Given the description of an element on the screen output the (x, y) to click on. 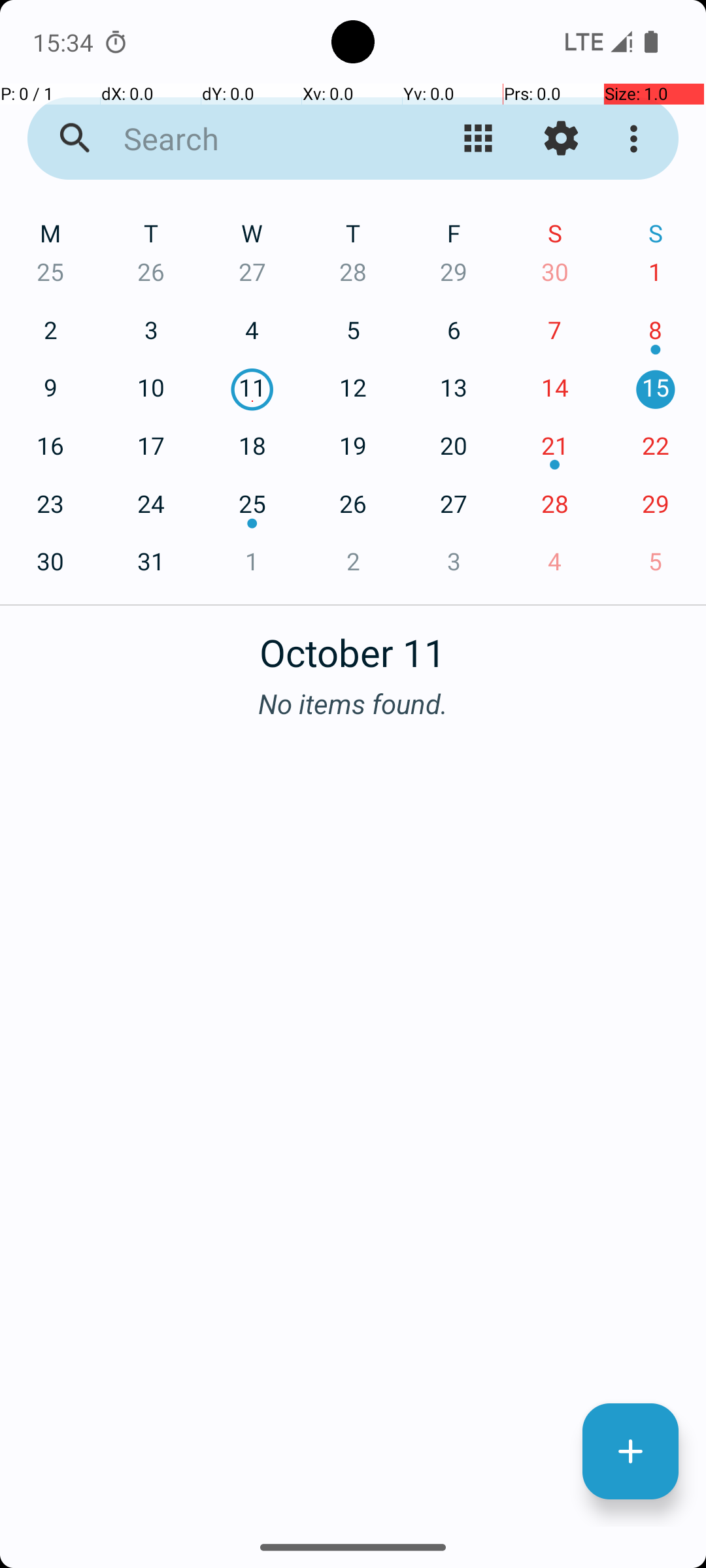
October 11 Element type: android.widget.TextView (352, 644)
